Given the description of an element on the screen output the (x, y) to click on. 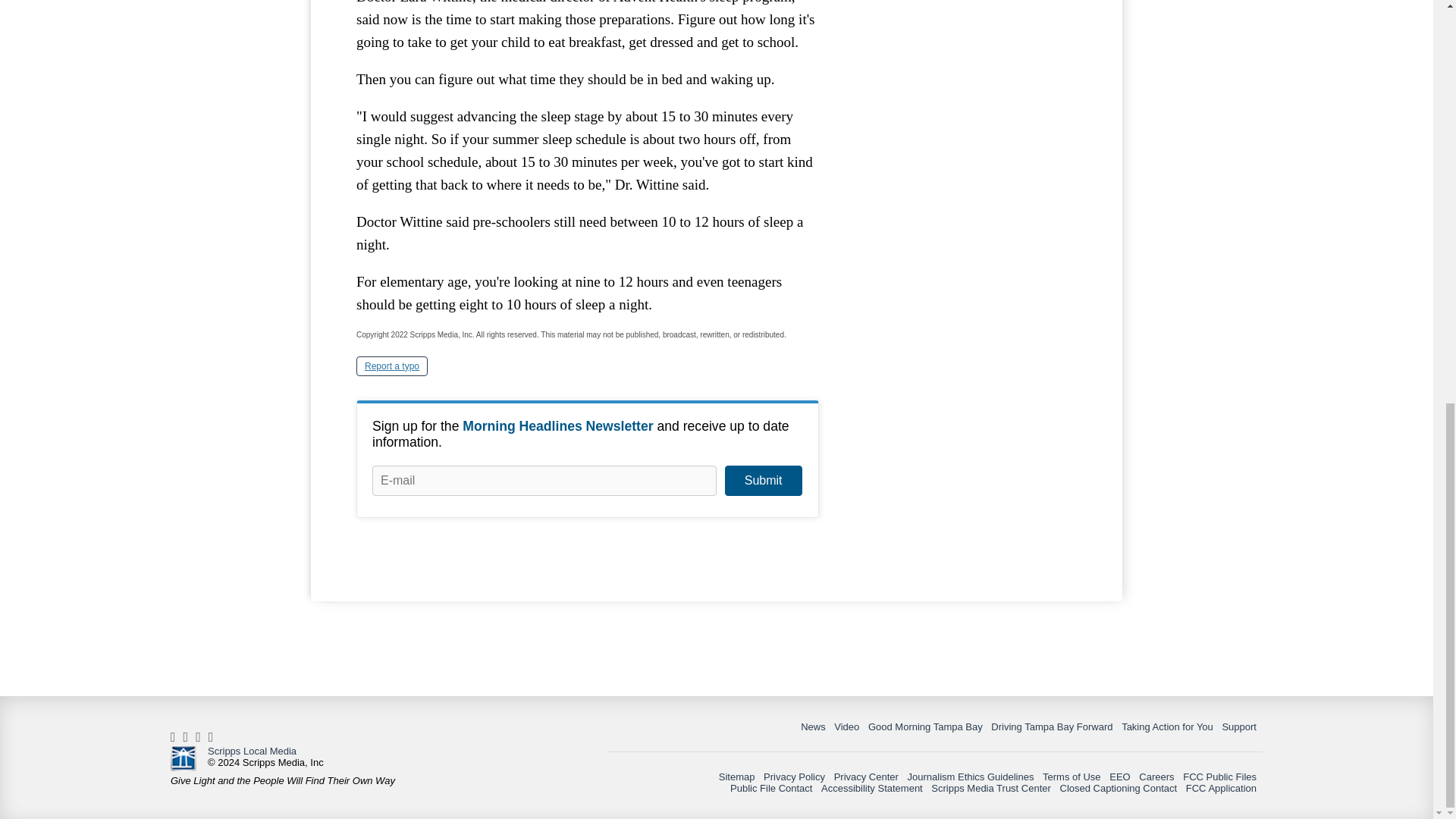
Submit (763, 481)
